Given the description of an element on the screen output the (x, y) to click on. 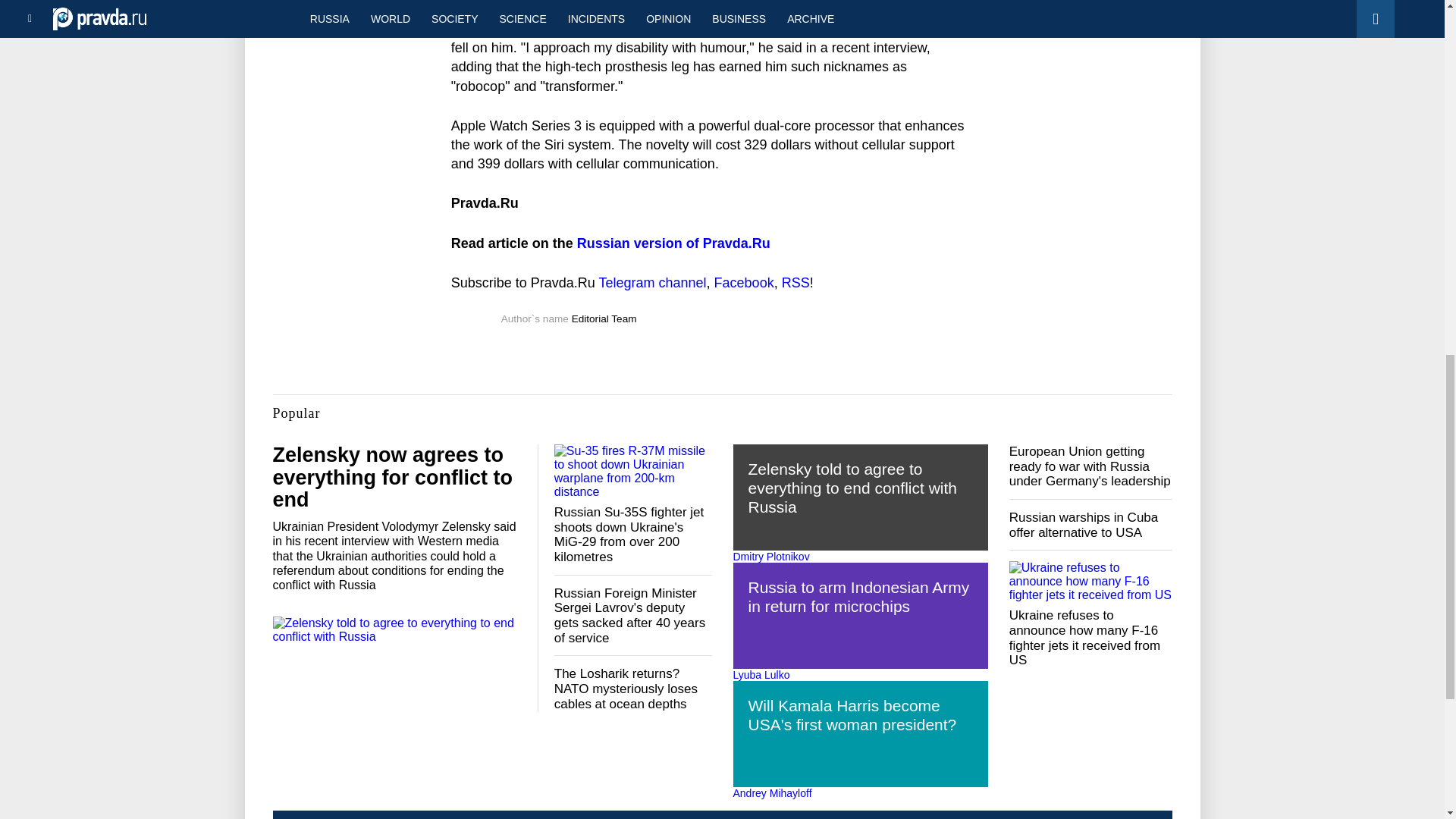
Russian version of Pravda.Ru (673, 242)
Facebook (744, 282)
Telegram channel (652, 282)
Back to top (1418, 79)
RSS (795, 282)
